Given the description of an element on the screen output the (x, y) to click on. 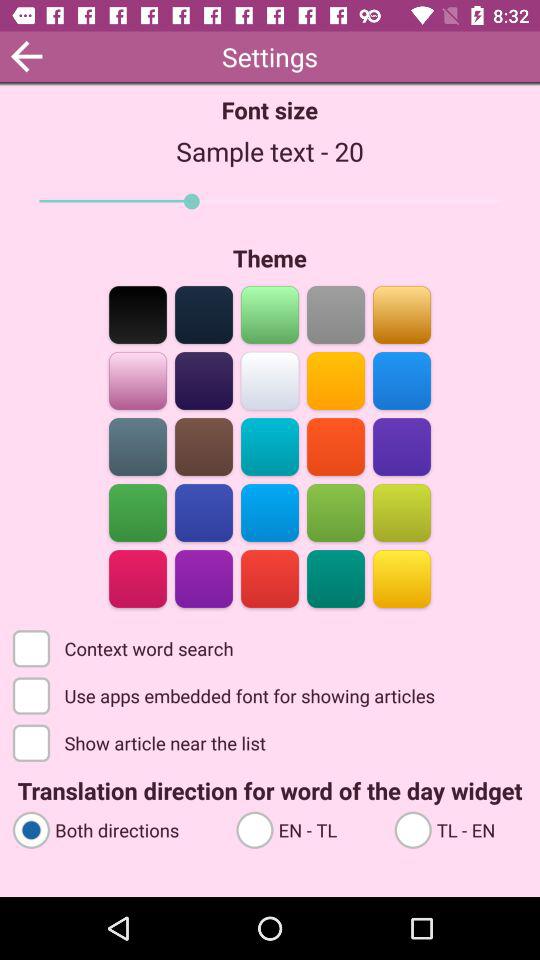
choose theme (137, 313)
